Given the description of an element on the screen output the (x, y) to click on. 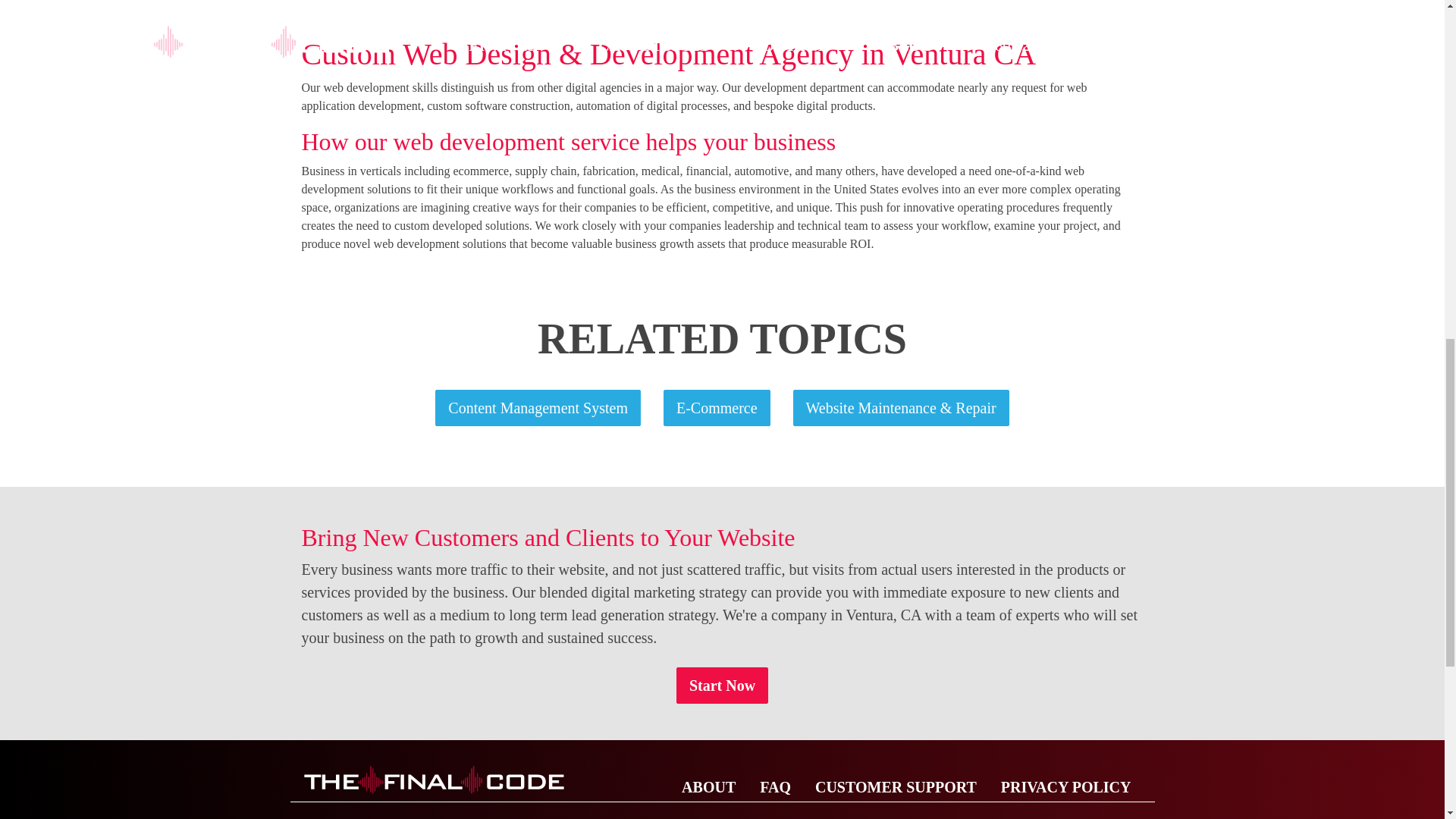
eCommerce (716, 407)
Content Management System (537, 407)
Become a client (722, 685)
